Given the description of an element on the screen output the (x, y) to click on. 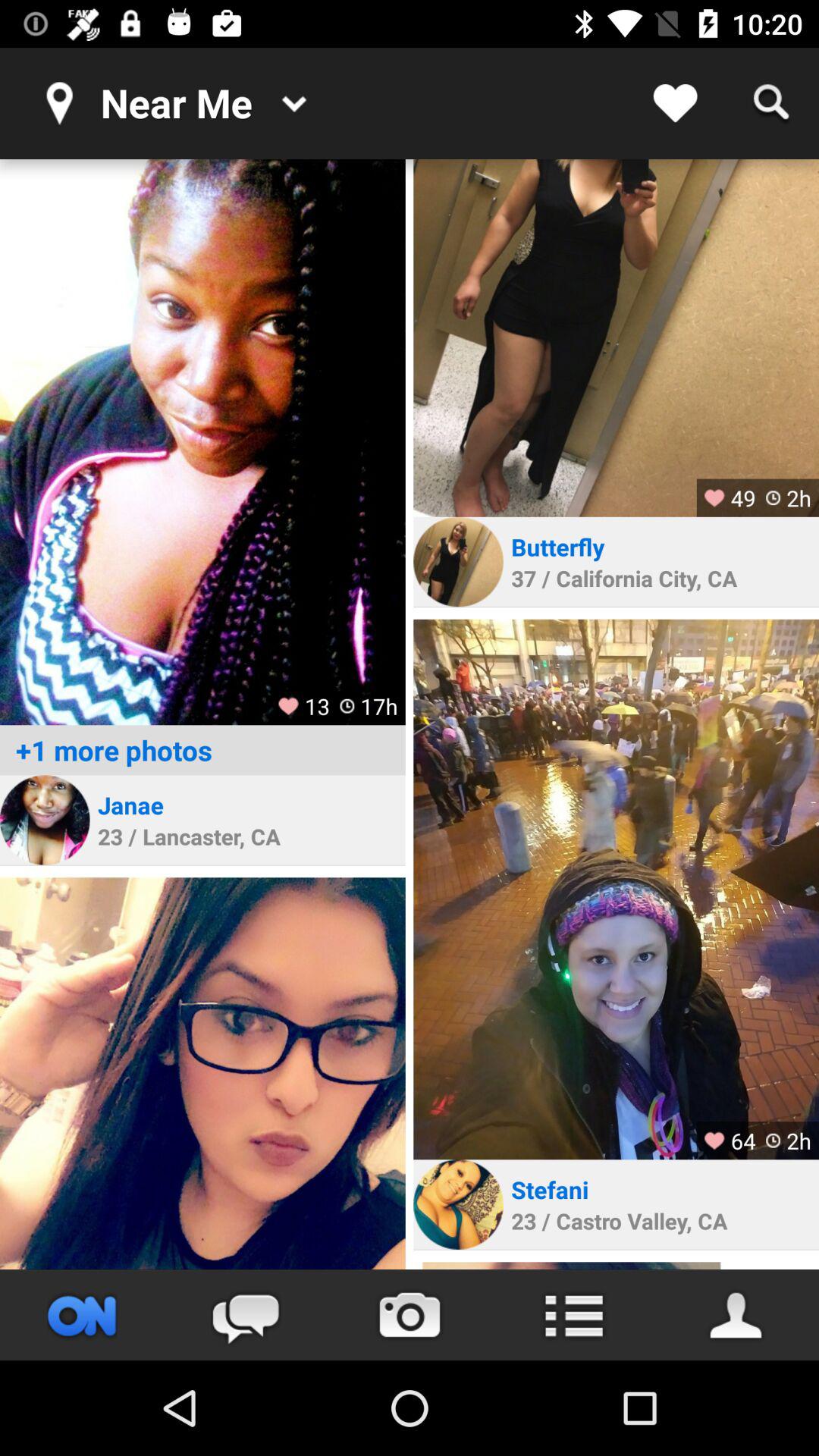
open profile pics (202, 442)
